Given the description of an element on the screen output the (x, y) to click on. 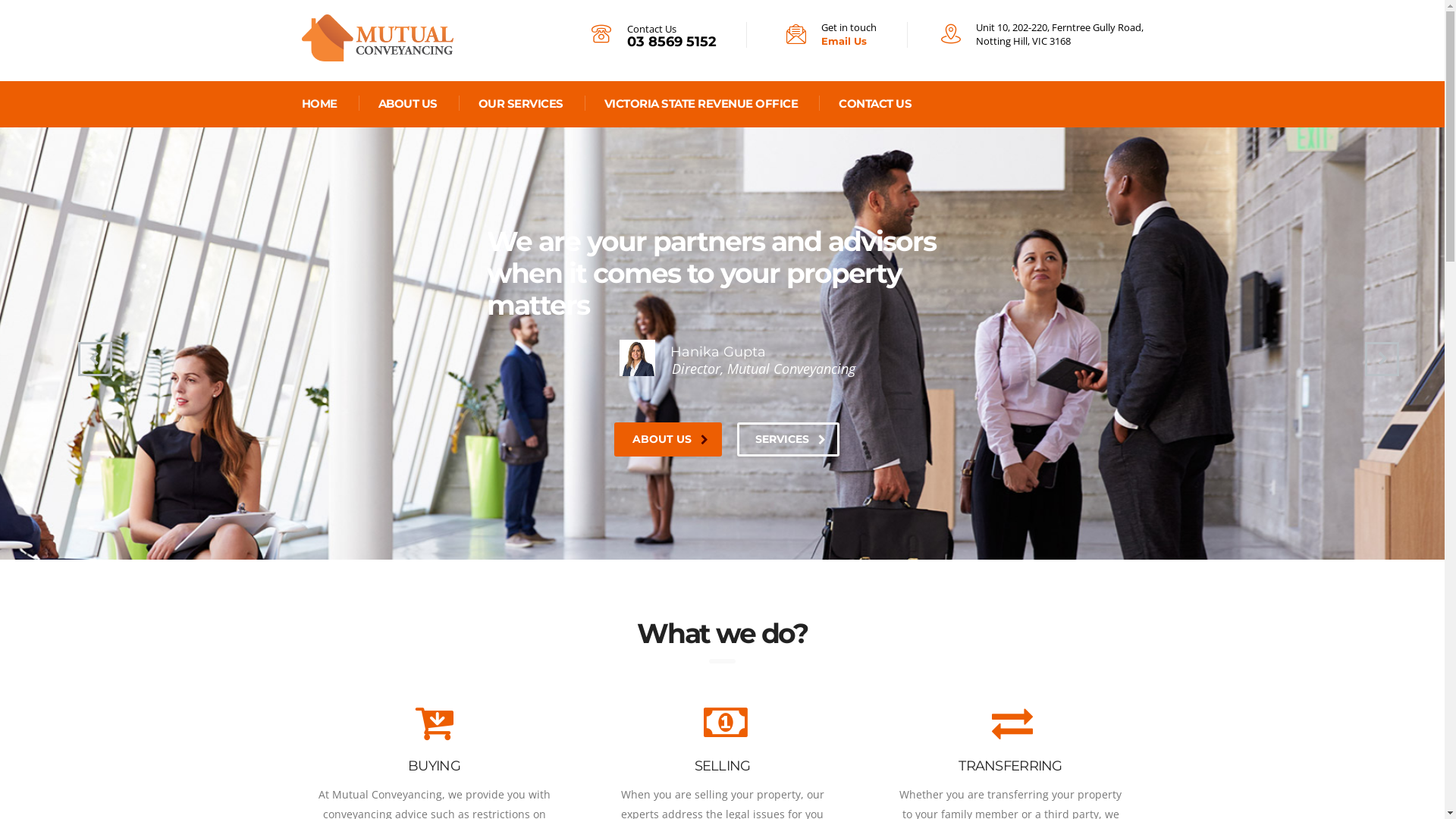
ABOUT US Element type: text (407, 104)
CONTACT US Element type: text (875, 104)
SERVICES Element type: text (788, 439)
ABOUT US Element type: text (667, 439)
OUR SERVICES Element type: text (520, 104)
VICTORIA STATE REVENUE OFFICE Element type: text (701, 104)
Email Us Element type: text (843, 40)
HOME Element type: text (320, 104)
